Given the description of an element on the screen output the (x, y) to click on. 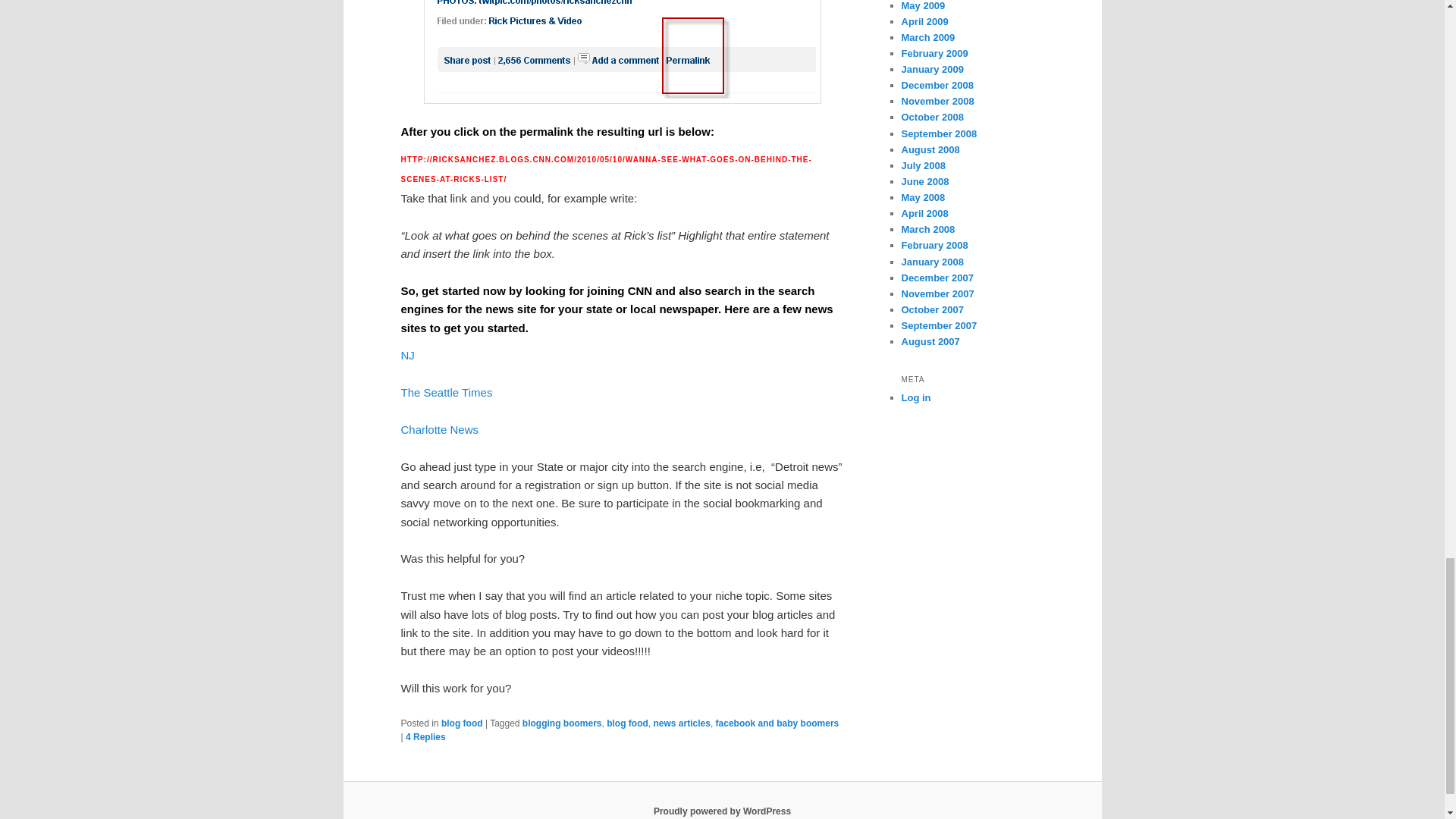
blog food (462, 723)
Permalink for blog post (622, 52)
facebook and baby boomers (778, 723)
Charlotte News (439, 429)
The Seattle Times (446, 391)
blogging boomers (562, 723)
Semantic Personal Publishing Platform (721, 810)
news articles (681, 723)
NJ (406, 354)
4 Replies (425, 737)
blog food (627, 723)
